Given the description of an element on the screen output the (x, y) to click on. 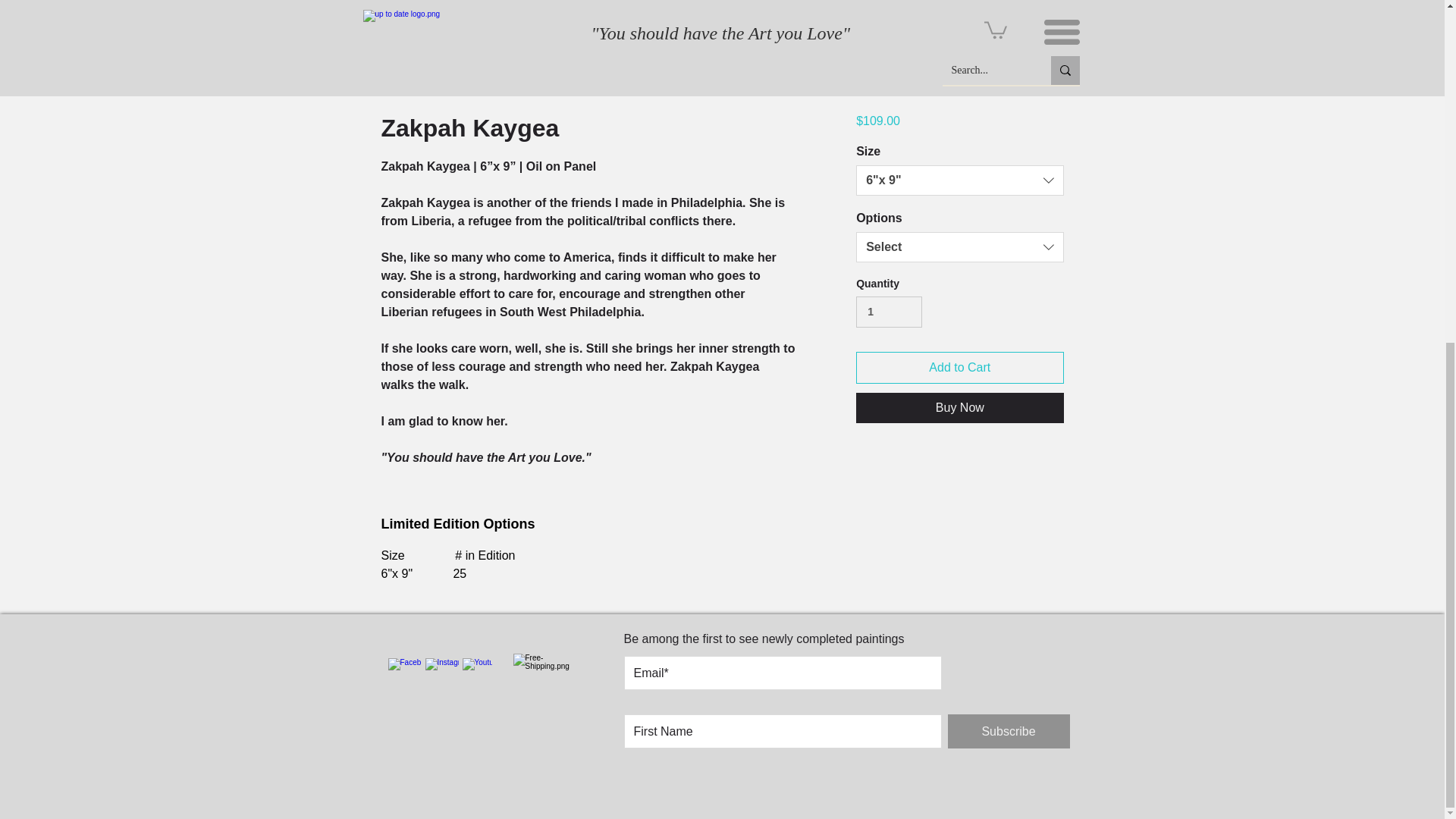
6"x 9" (959, 180)
Buy Now (959, 408)
Add to Cart (959, 368)
Subscribe (1008, 731)
1 (888, 311)
Select (959, 246)
